Given the description of an element on the screen output the (x, y) to click on. 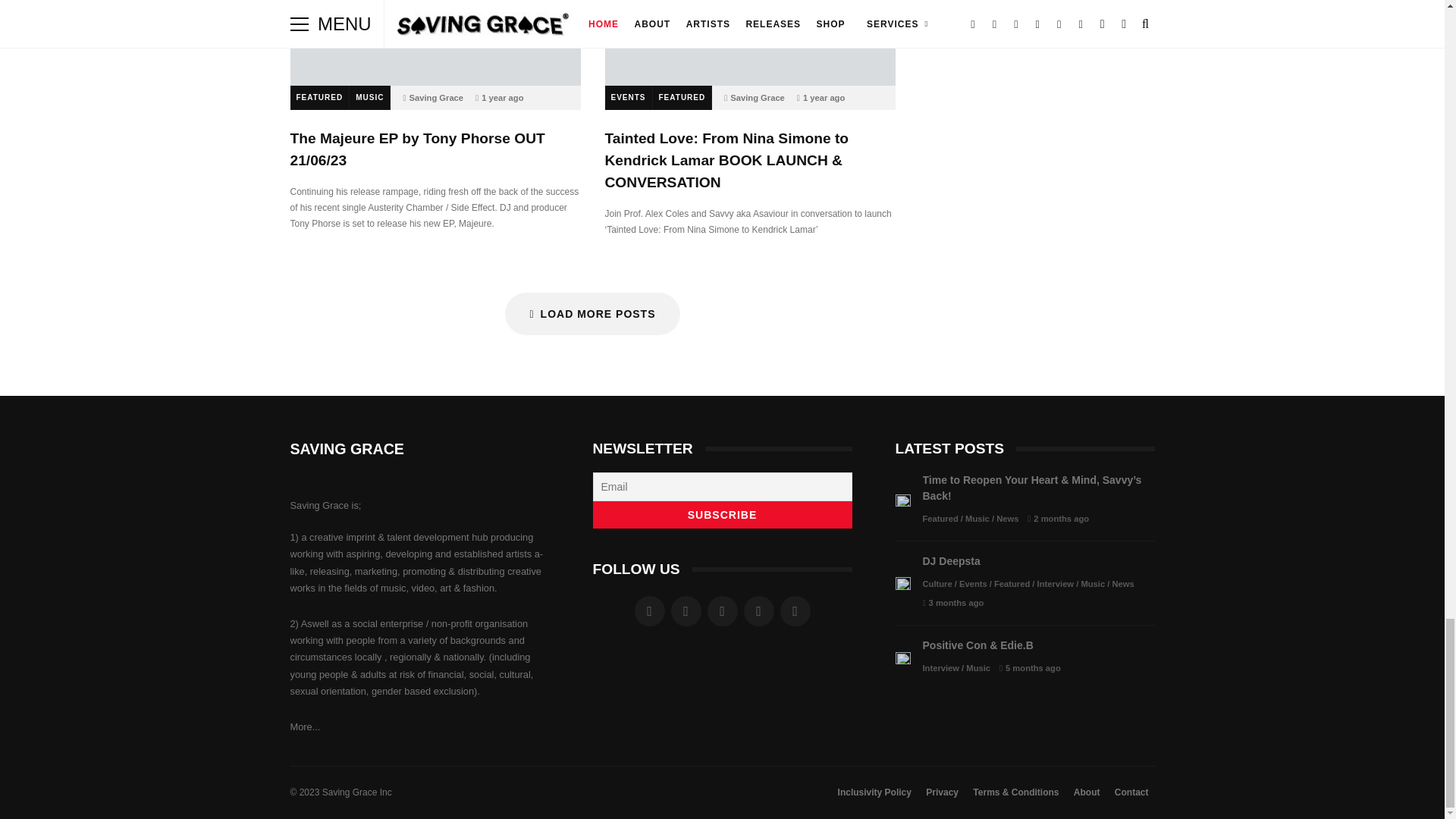
Subscribe (721, 514)
Posts by Saving Grace (436, 97)
Posts by Saving Grace (757, 97)
